Given the description of an element on the screen output the (x, y) to click on. 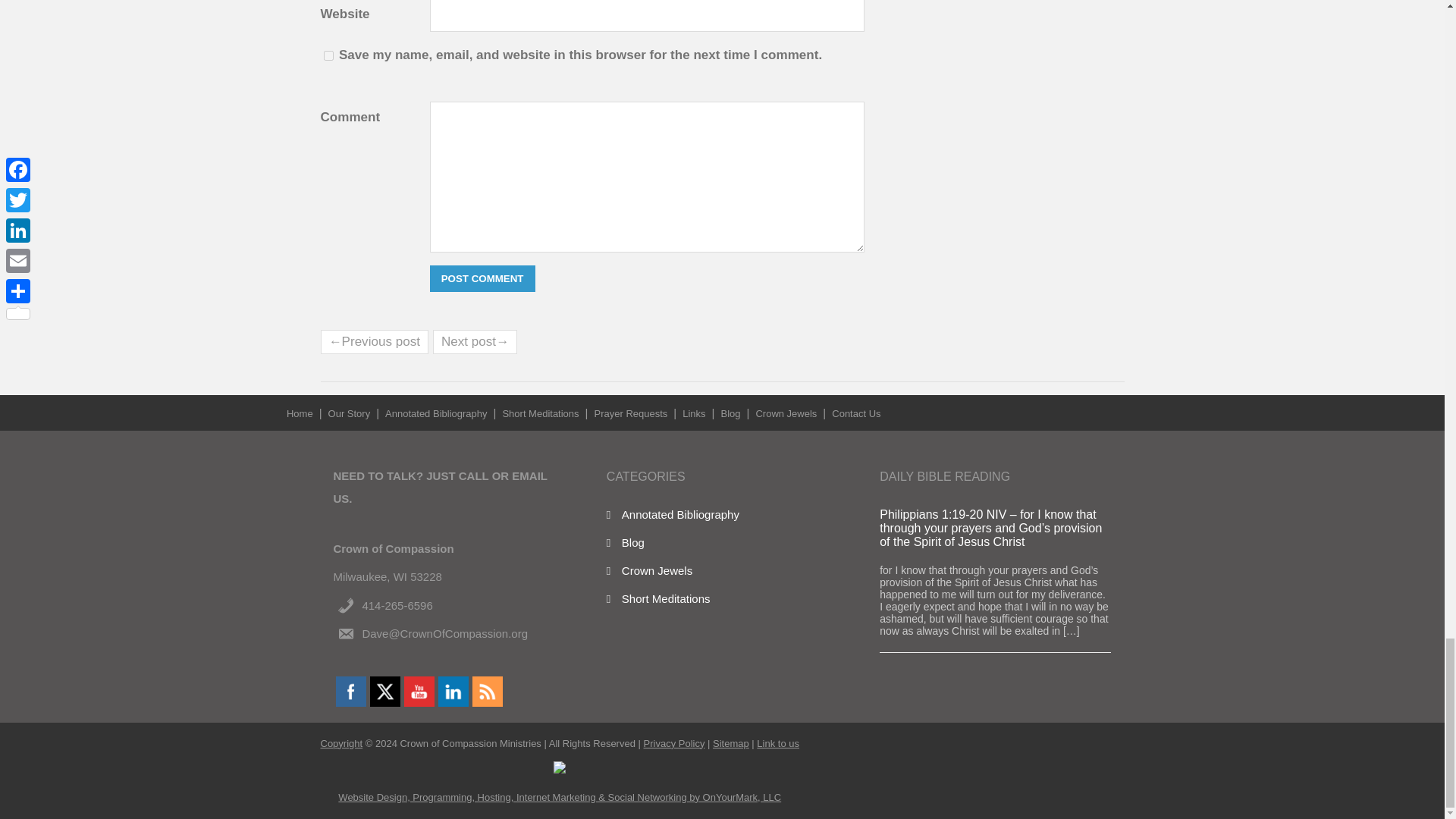
POST COMMENT (482, 278)
POST COMMENT (482, 278)
Facebook (351, 691)
LinkedIn (453, 691)
YouTube (418, 691)
yes (328, 55)
Twitter (384, 691)
